Given the description of an element on the screen output the (x, y) to click on. 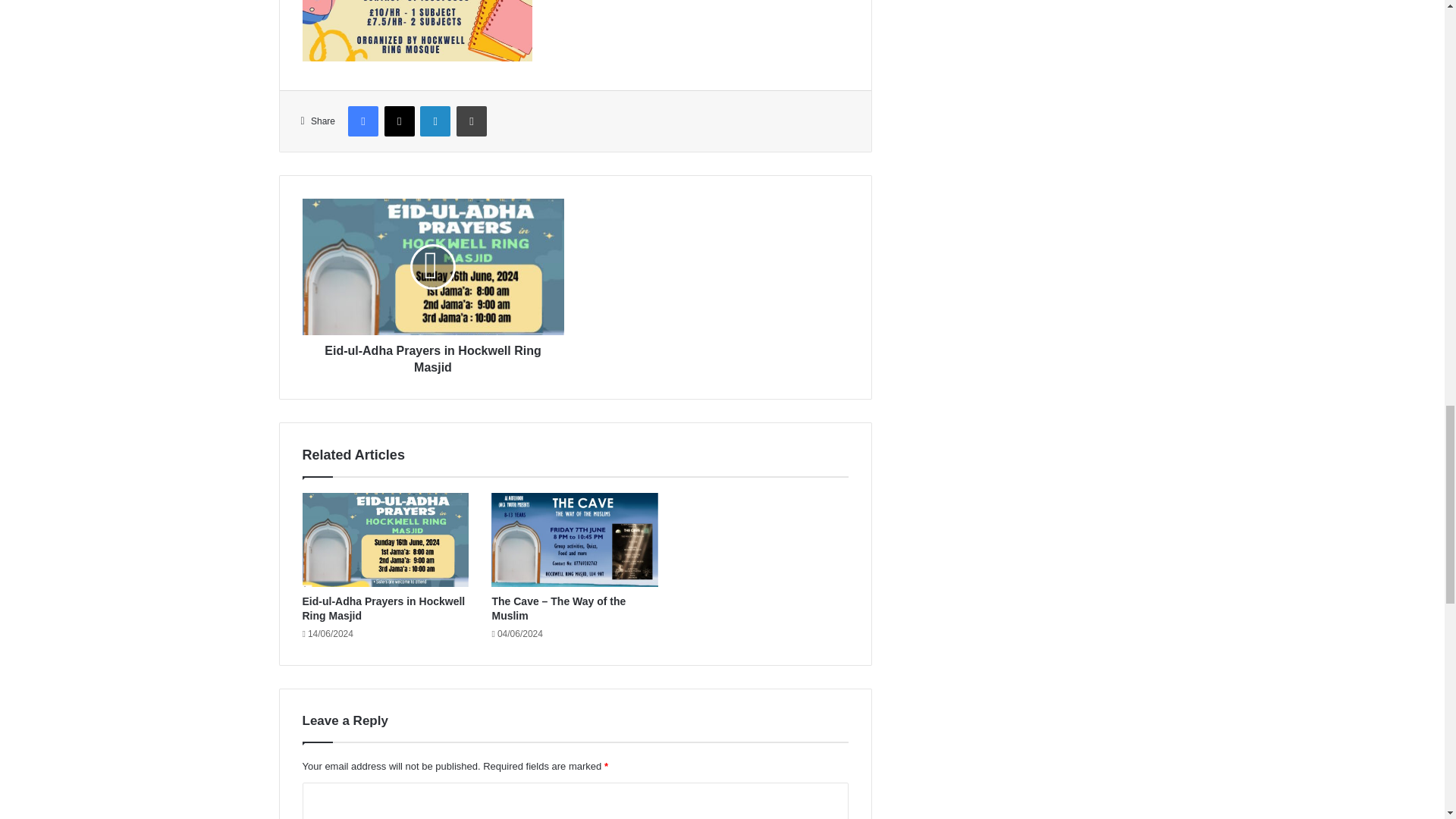
Print (471, 121)
X (399, 121)
Print (471, 121)
Facebook (362, 121)
LinkedIn (434, 121)
X (399, 121)
Facebook (362, 121)
LinkedIn (434, 121)
